Given the description of an element on the screen output the (x, y) to click on. 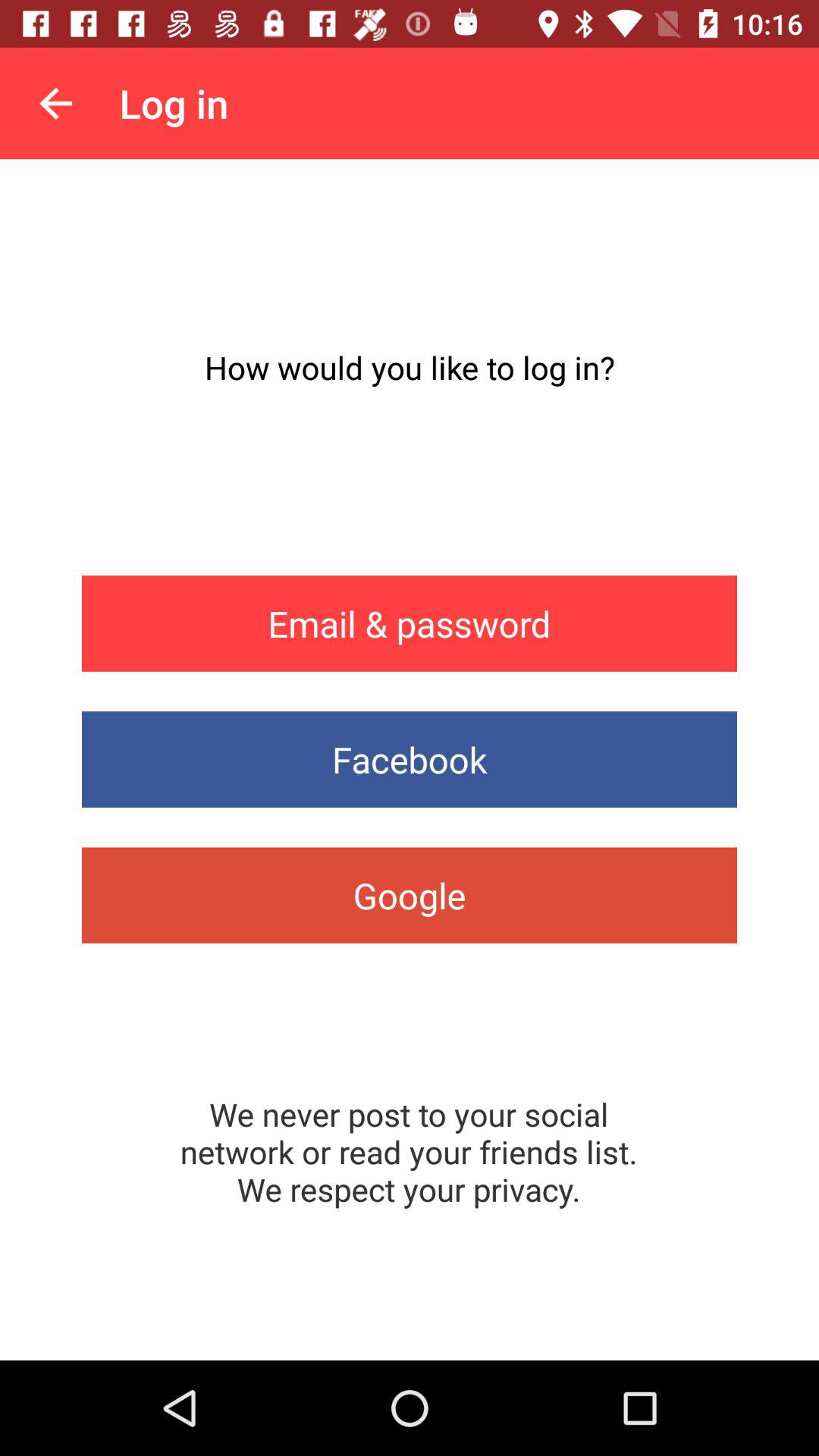
click app above the google item (409, 759)
